Given the description of an element on the screen output the (x, y) to click on. 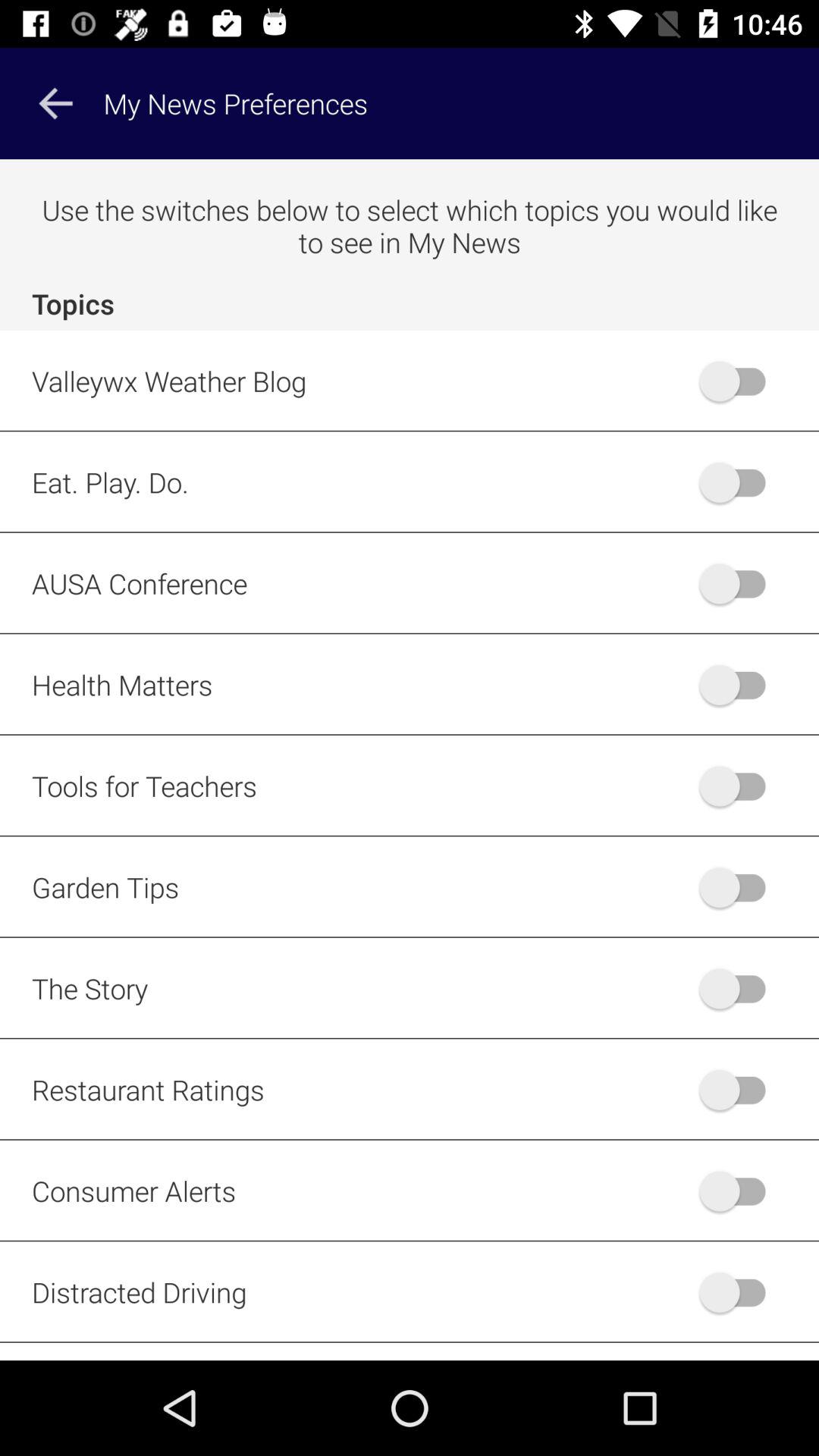
toggles consumer alerts (739, 1190)
